Given the description of an element on the screen output the (x, y) to click on. 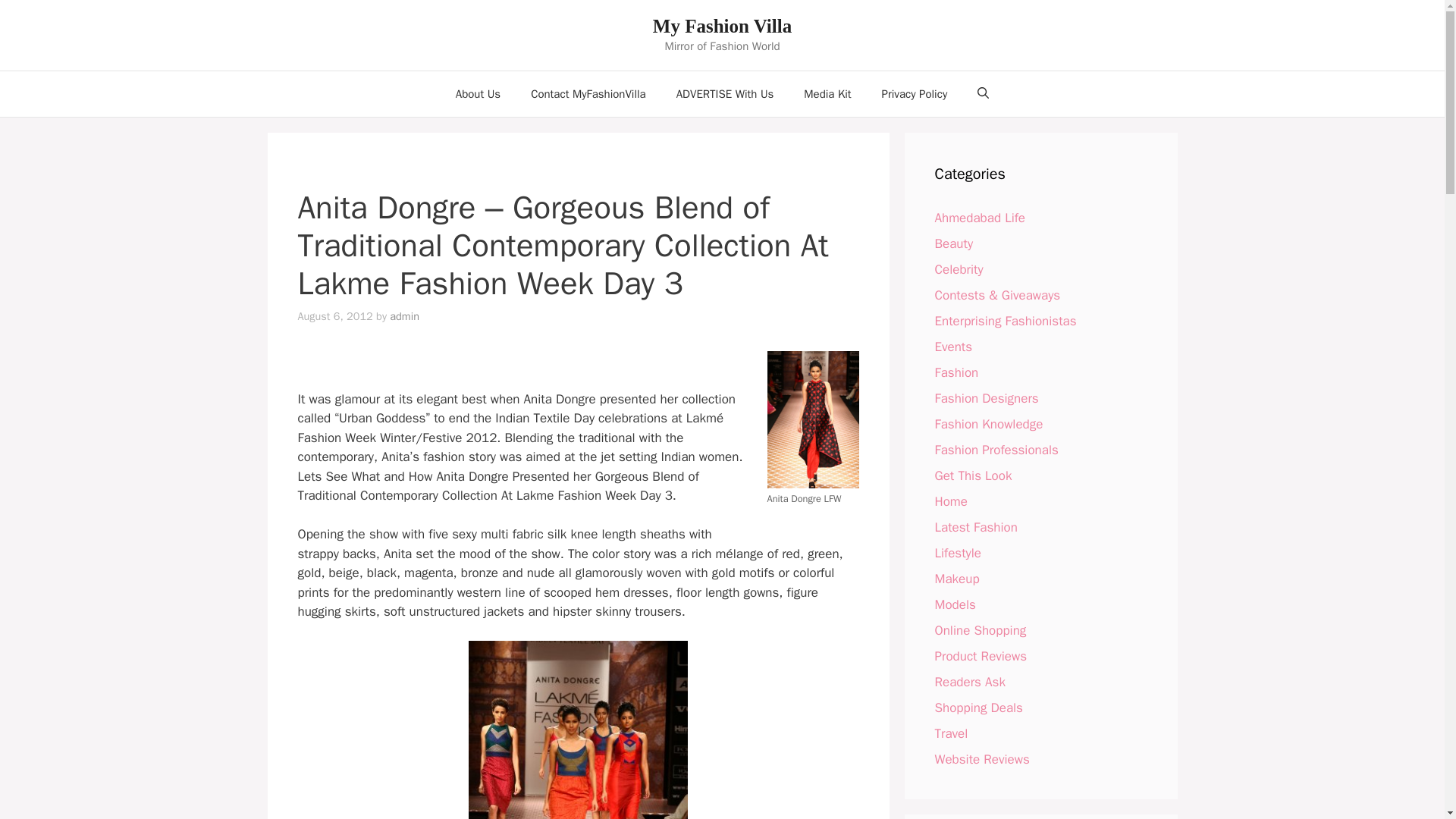
Fashion Professionals (996, 449)
Makeup (956, 578)
Media Kit (827, 94)
Beauty (953, 242)
My Fashion Villa (722, 25)
Lifestyle (956, 552)
Home (950, 500)
Fashion Knowledge (988, 423)
View all posts by admin (404, 315)
Lakme Fashion Week Winter Festive day 3 (577, 729)
